Given the description of an element on the screen output the (x, y) to click on. 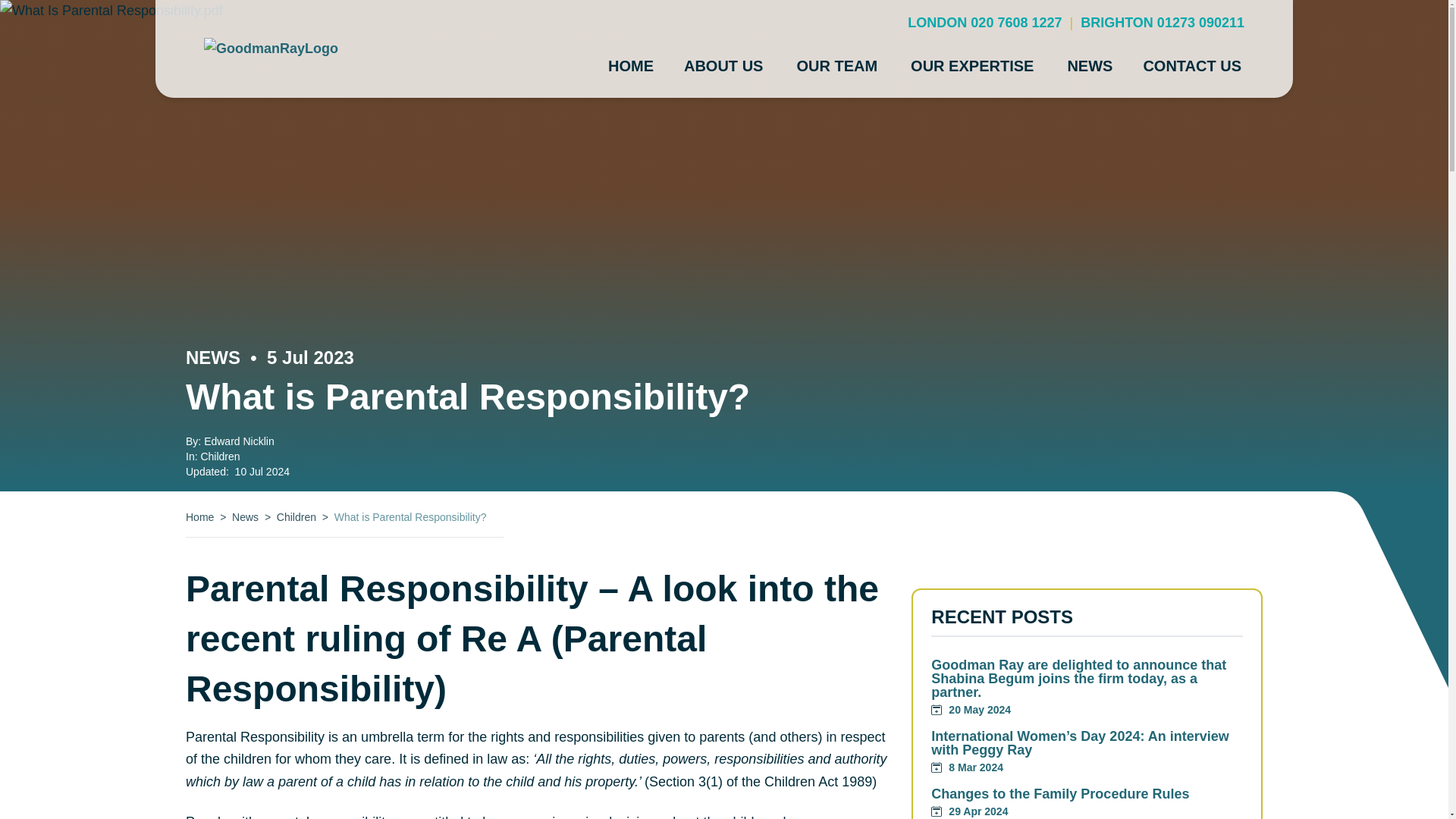
LONDON 020 7608 1227 (984, 22)
OUR TEAM (837, 65)
View all posts in Children (220, 456)
BRIGHTON 01273 090211 (1162, 22)
